Given the description of an element on the screen output the (x, y) to click on. 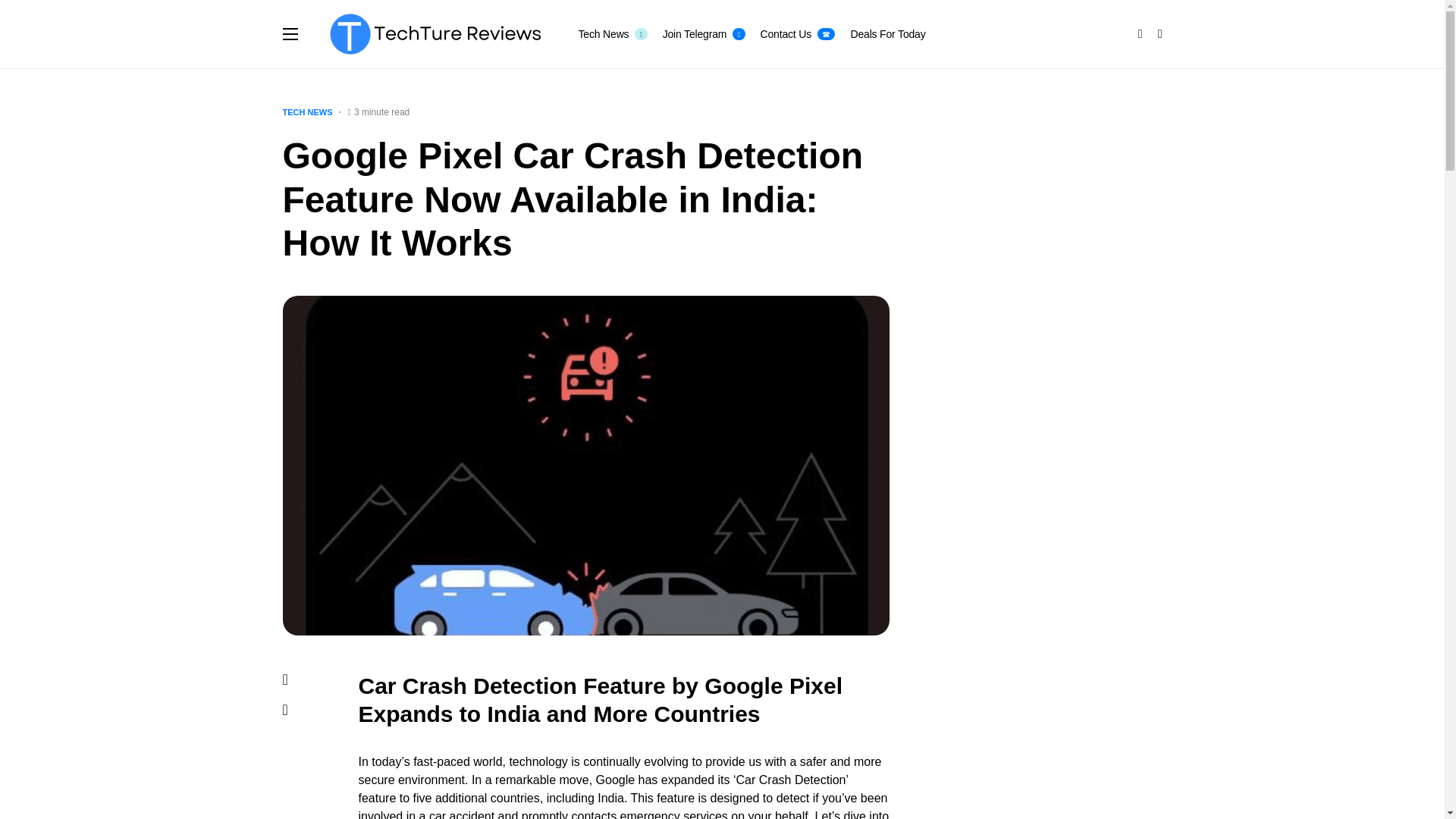
Deals For Today (887, 33)
